Given the description of an element on the screen output the (x, y) to click on. 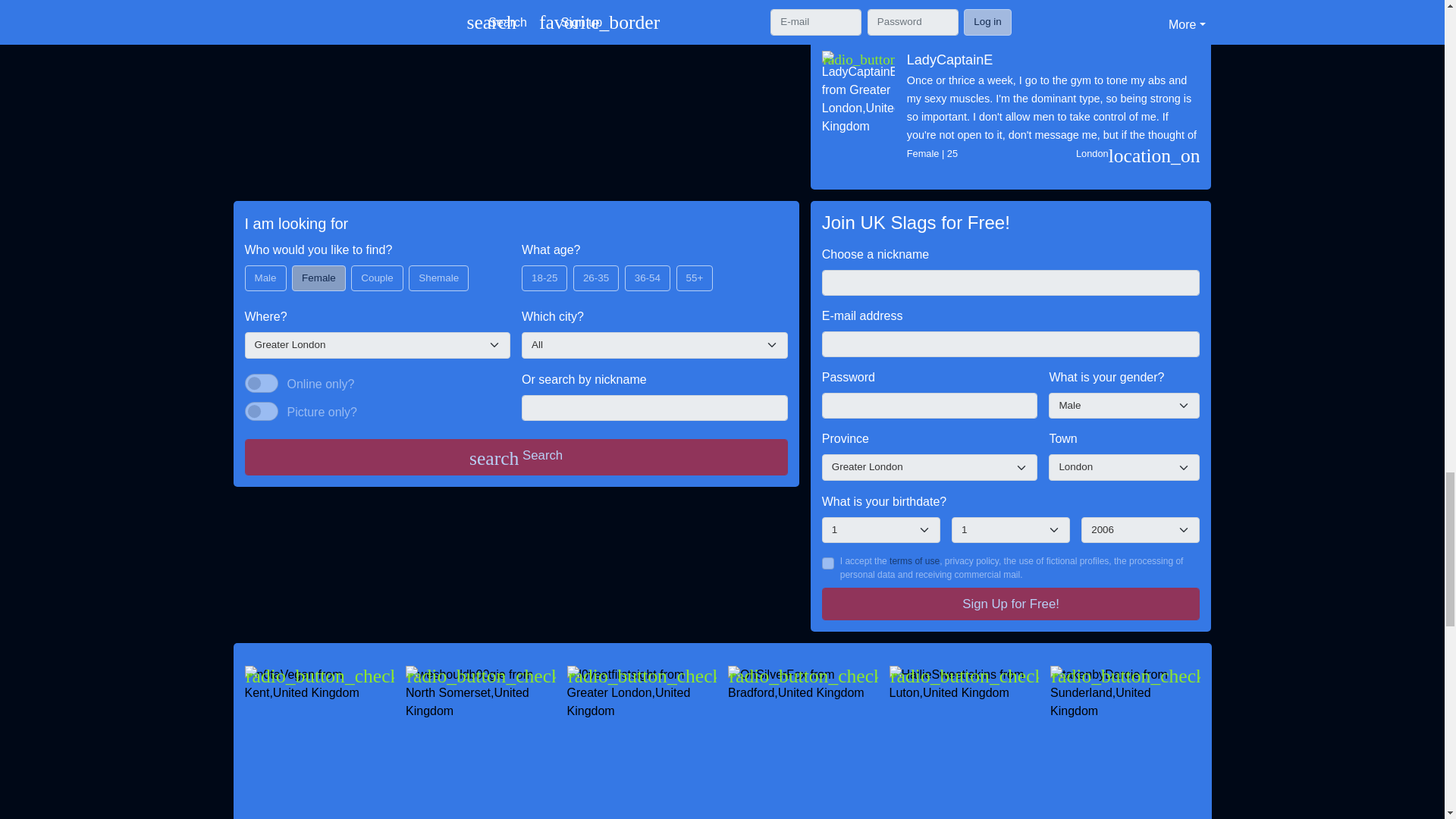
26-35 (578, 270)
female (296, 270)
1 (828, 563)
1 (261, 383)
18-25 (526, 270)
36-54 (629, 270)
couple (355, 270)
shemale (414, 270)
1 (261, 411)
male (248, 270)
